Given the description of an element on the screen output the (x, y) to click on. 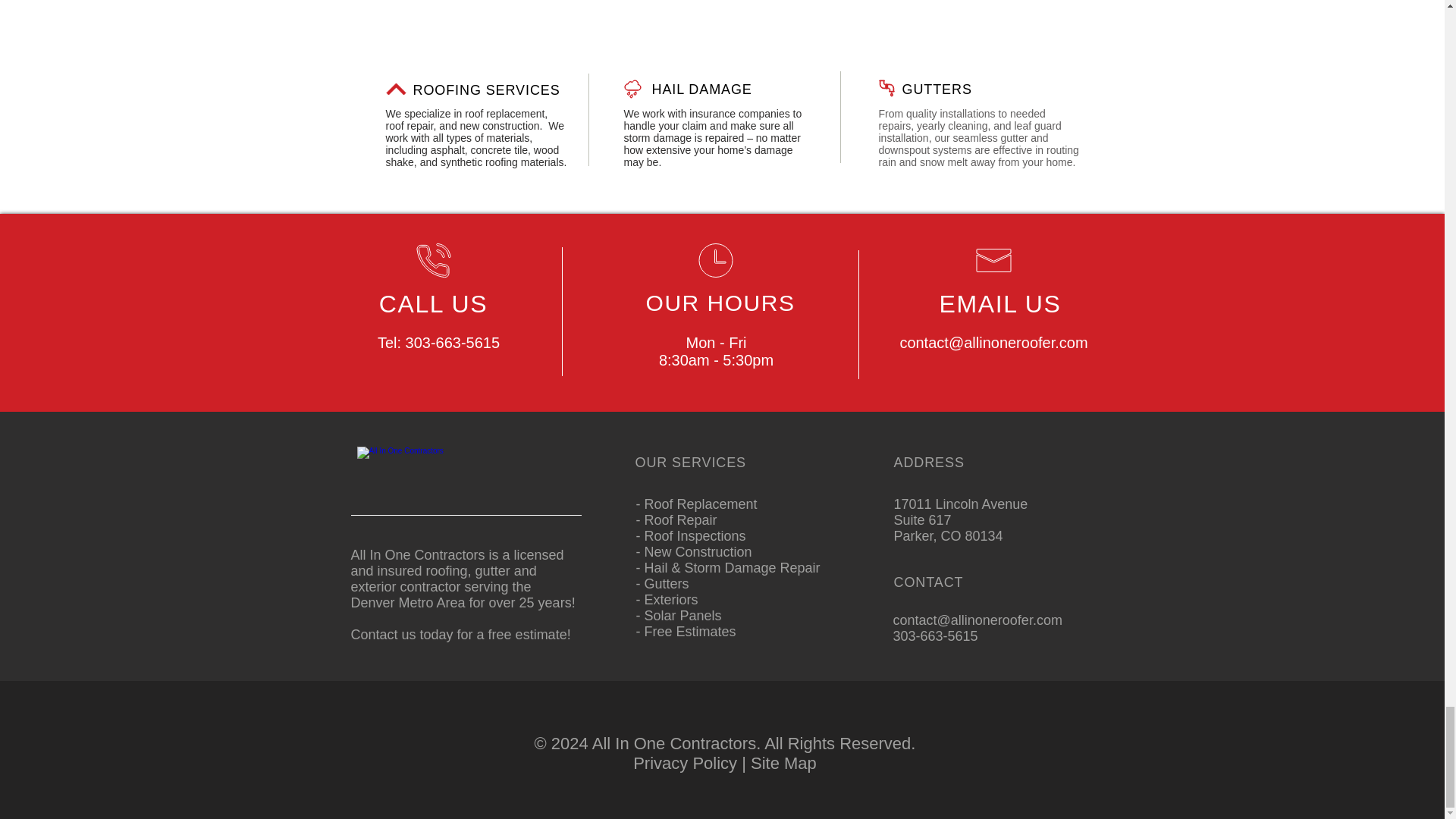
conta (917, 342)
